Given the description of an element on the screen output the (x, y) to click on. 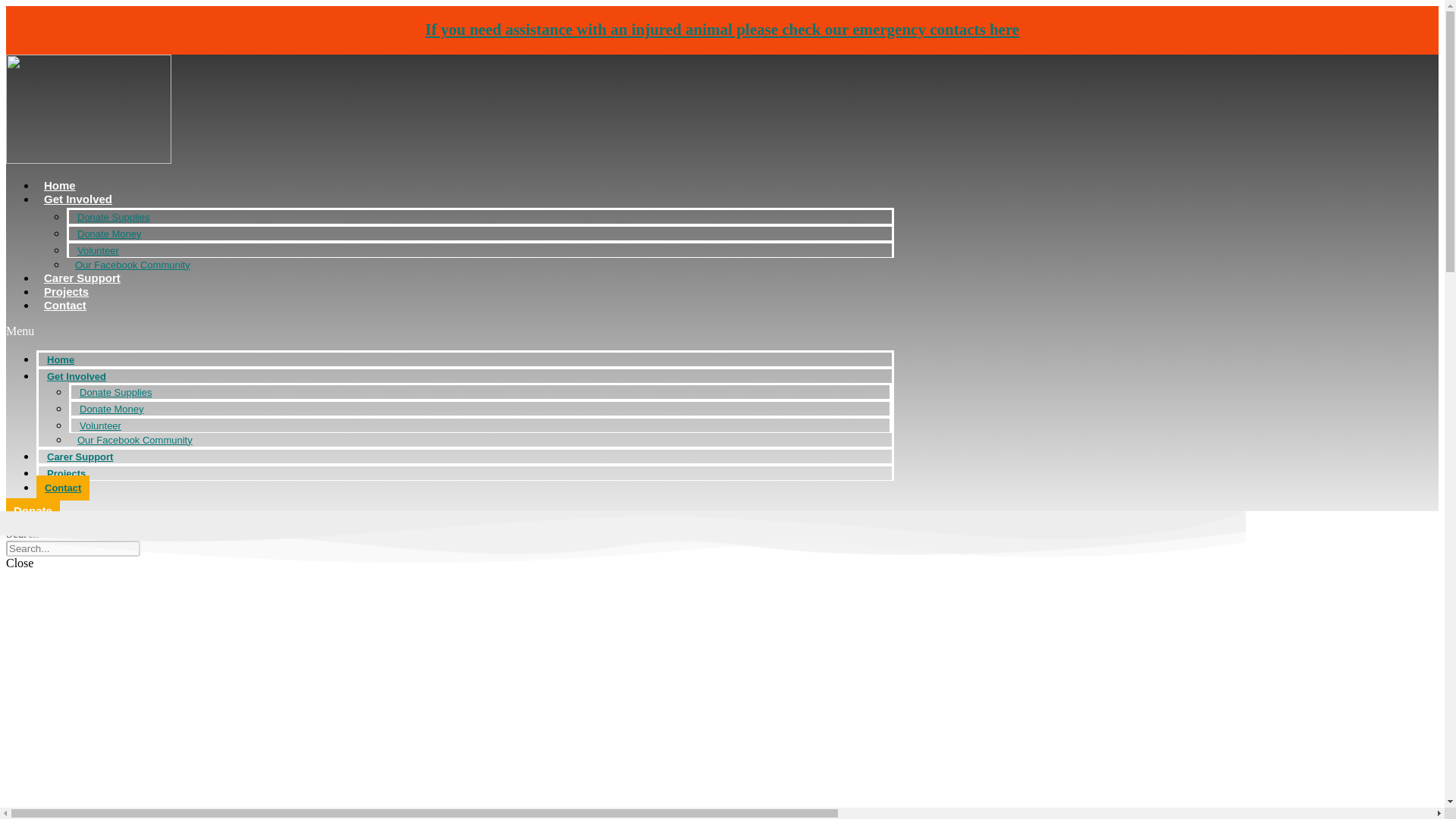
Donate Money (111, 408)
Get Involved (77, 376)
Home (59, 185)
Our Facebook Community (134, 439)
Contact (62, 487)
Donate (32, 510)
Projects (66, 473)
Home (60, 359)
Contact (65, 305)
Get Involved (77, 198)
Facebook (38, 521)
Carer Support (79, 456)
Donate Supplies (115, 392)
Volunteer (100, 425)
